Given the description of an element on the screen output the (x, y) to click on. 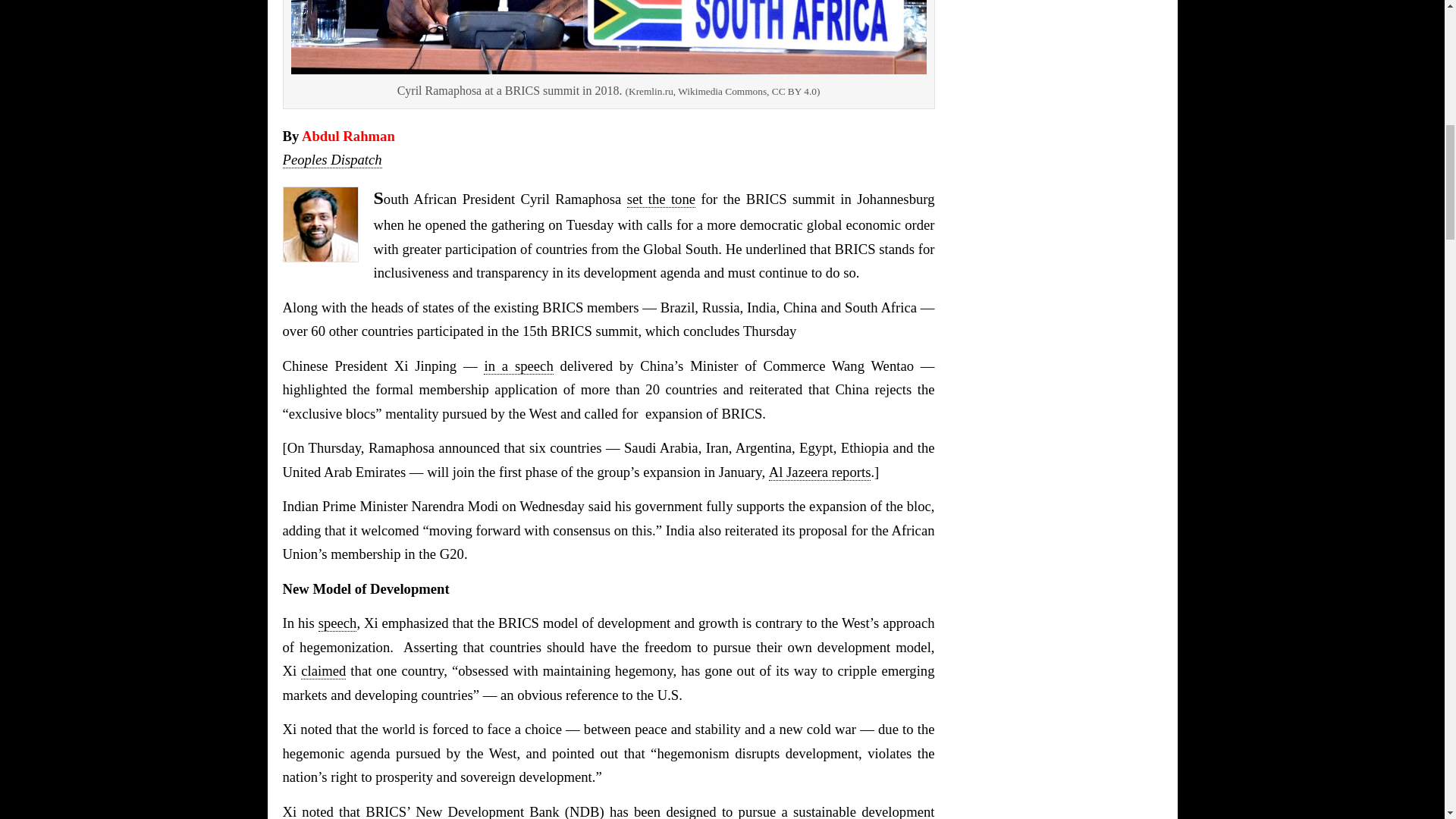
set the tone (661, 199)
Peoples Dispatch (331, 159)
